Given the description of an element on the screen output the (x, y) to click on. 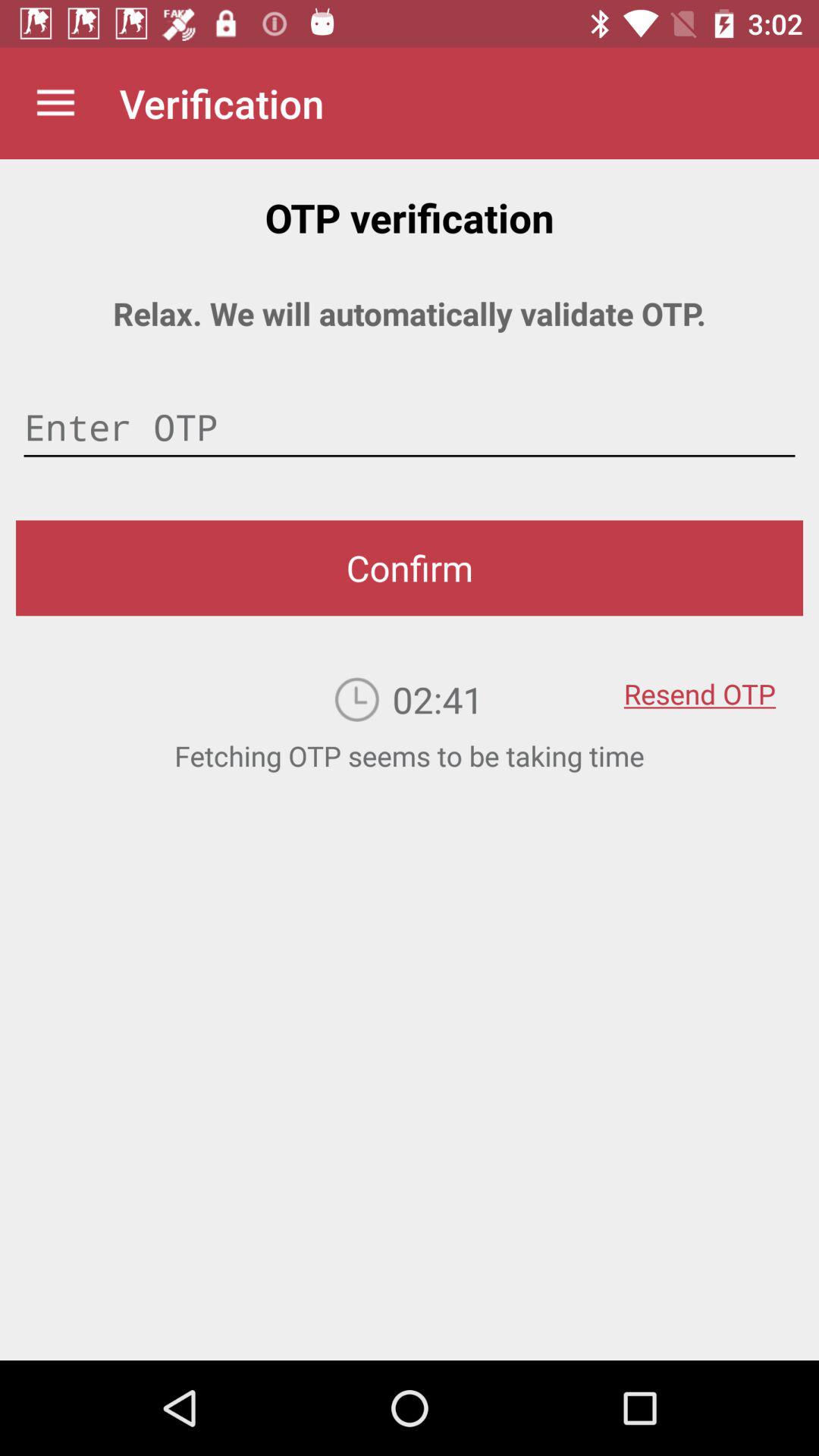
turn off the icon above  resend otp  icon (409, 567)
